Given the description of an element on the screen output the (x, y) to click on. 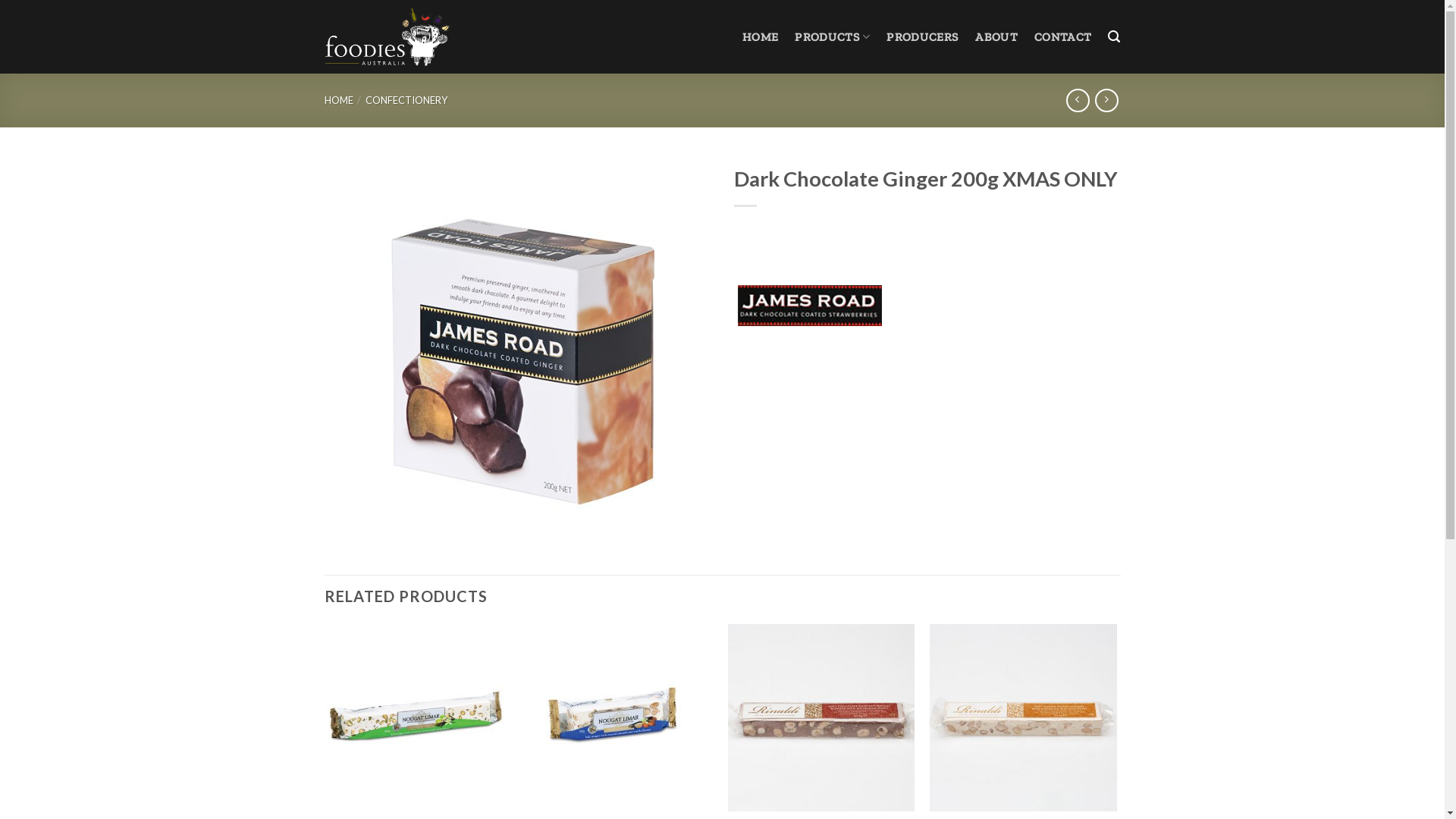
James Road Element type: hover (809, 306)
CONTACT Element type: text (1062, 36)
PRODUCERS Element type: text (922, 36)
ABOUT Element type: text (996, 36)
HOME Element type: text (338, 100)
CONFECTIONERY Element type: text (406, 100)
PRODUCTS Element type: text (831, 36)
HOME Element type: text (760, 36)
JamesRoad-Choc-Ginger Element type: hover (517, 350)
